Given the description of an element on the screen output the (x, y) to click on. 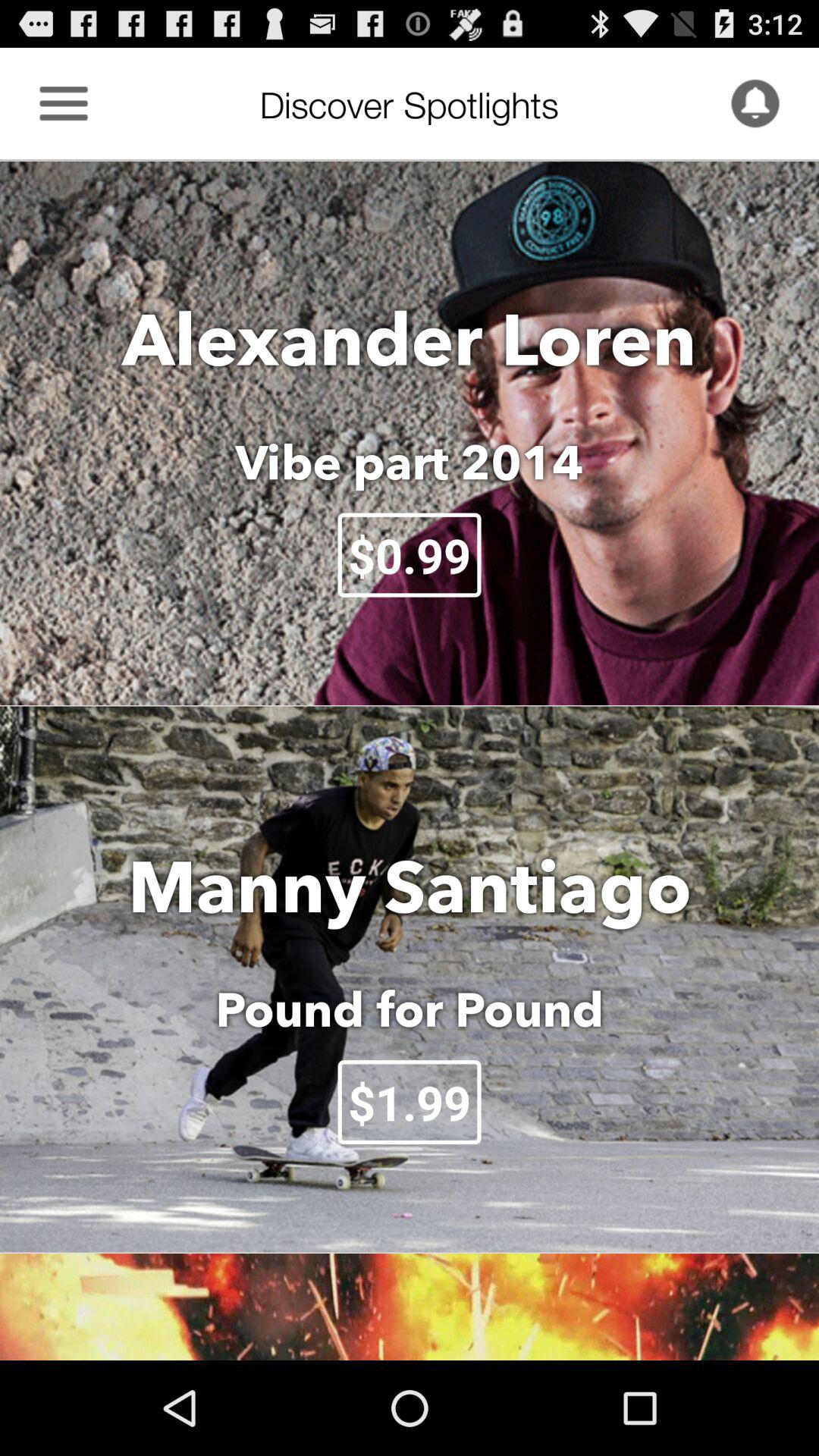
tap icon next to the discover spotlights (755, 103)
